Given the description of an element on the screen output the (x, y) to click on. 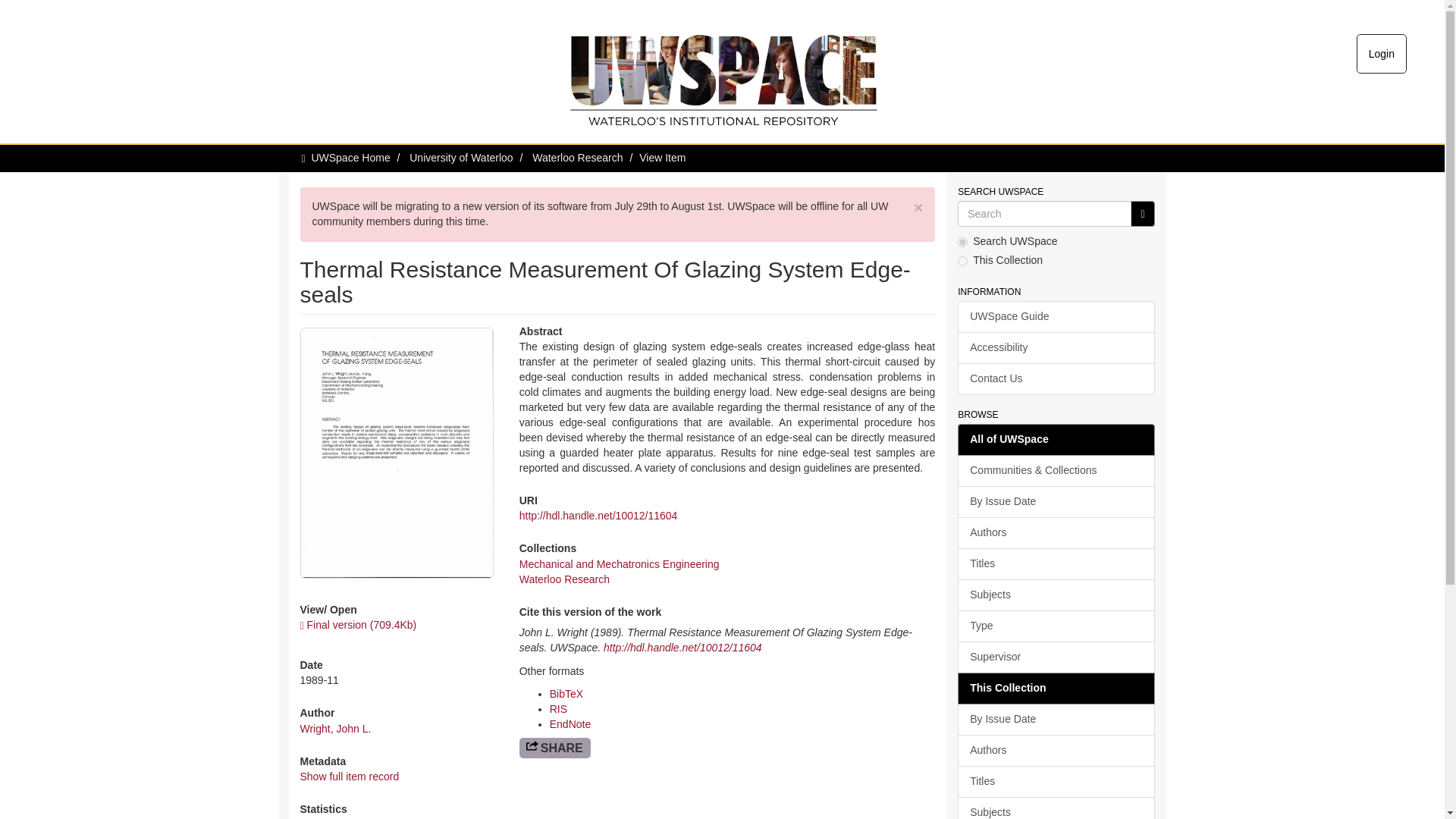
EndNote (570, 724)
UWSpace Home (350, 157)
University of Waterloo (460, 157)
BibTeX (566, 693)
Show full item record (348, 776)
Mechanical and Mechatronics Engineering (619, 563)
Waterloo Research (564, 579)
Login (1381, 53)
Search UWSpace (1044, 213)
untranslated (1142, 213)
Accessibility (1056, 347)
Wright, John L. (335, 728)
Contact Us (1056, 378)
UWSpace Guide (1056, 316)
RIS (558, 708)
